Given the description of an element on the screen output the (x, y) to click on. 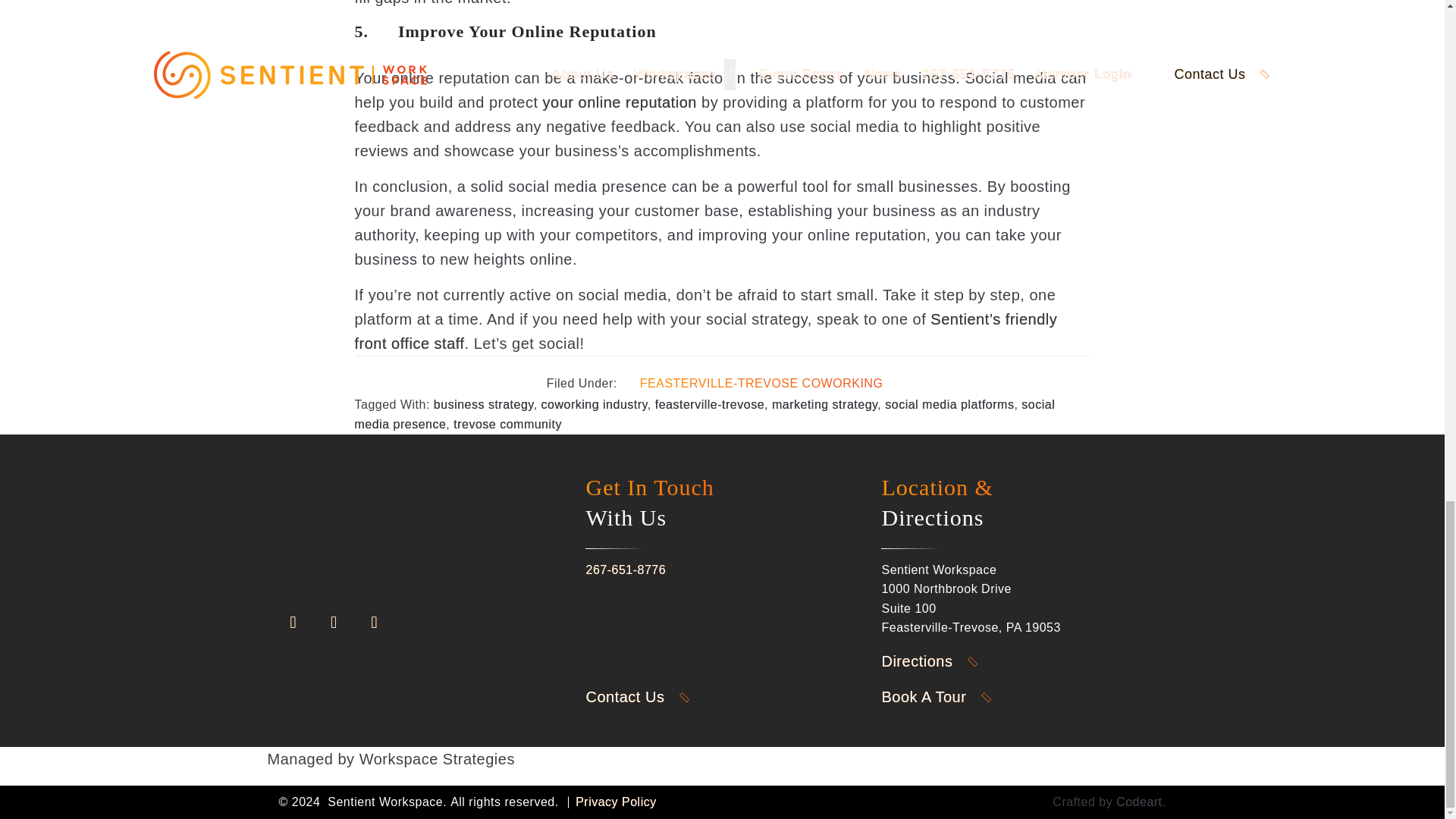
FEASTERVILLE-TREVOSE COWORKING (761, 383)
social media platforms (949, 404)
Codeart. (1141, 801)
Book A Tour (945, 696)
your online reputation (620, 102)
267-651-8776 (625, 569)
Privacy Policy (615, 801)
Contact Us (647, 696)
social media presence (705, 414)
marketing strategy (824, 404)
Directions (938, 661)
coworking industry (594, 404)
business strategy (483, 404)
trevose community (507, 423)
feasterville-trevose (709, 404)
